Given the description of an element on the screen output the (x, y) to click on. 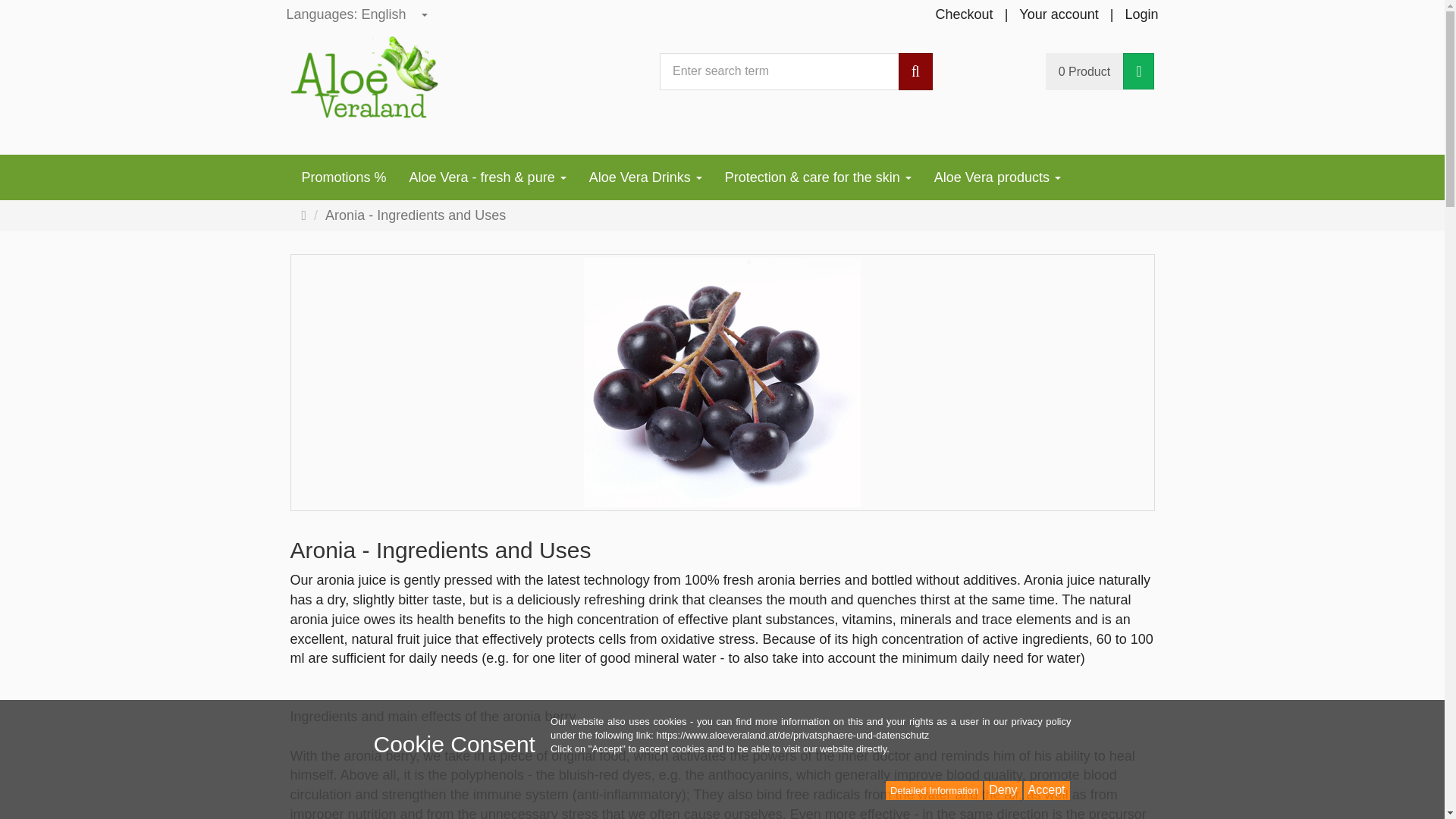
Aloe Vera products (997, 176)
search (915, 71)
Languages: English (357, 15)
Aronia - Ingredients and Uses (407, 216)
Languages: English (357, 15)
Login (1141, 15)
0 Product (1083, 71)
Your account (1058, 15)
Checkout (964, 15)
Aloe Vera Drinks (645, 176)
